Given the description of an element on the screen output the (x, y) to click on. 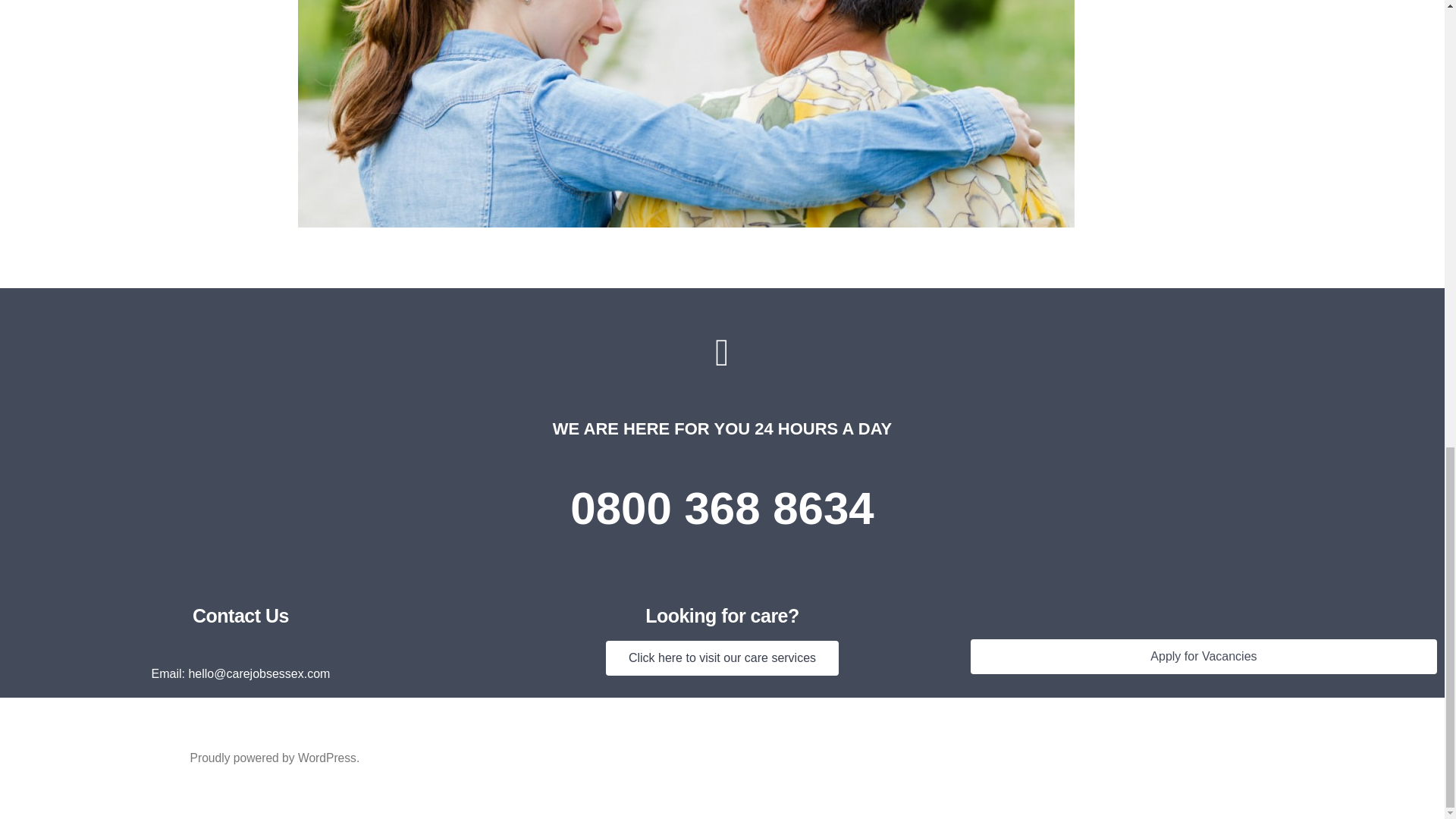
Proudly powered by WordPress. (274, 757)
Click here to visit our care services (721, 657)
Apply for Vacancies (1204, 656)
